Given the description of an element on the screen output the (x, y) to click on. 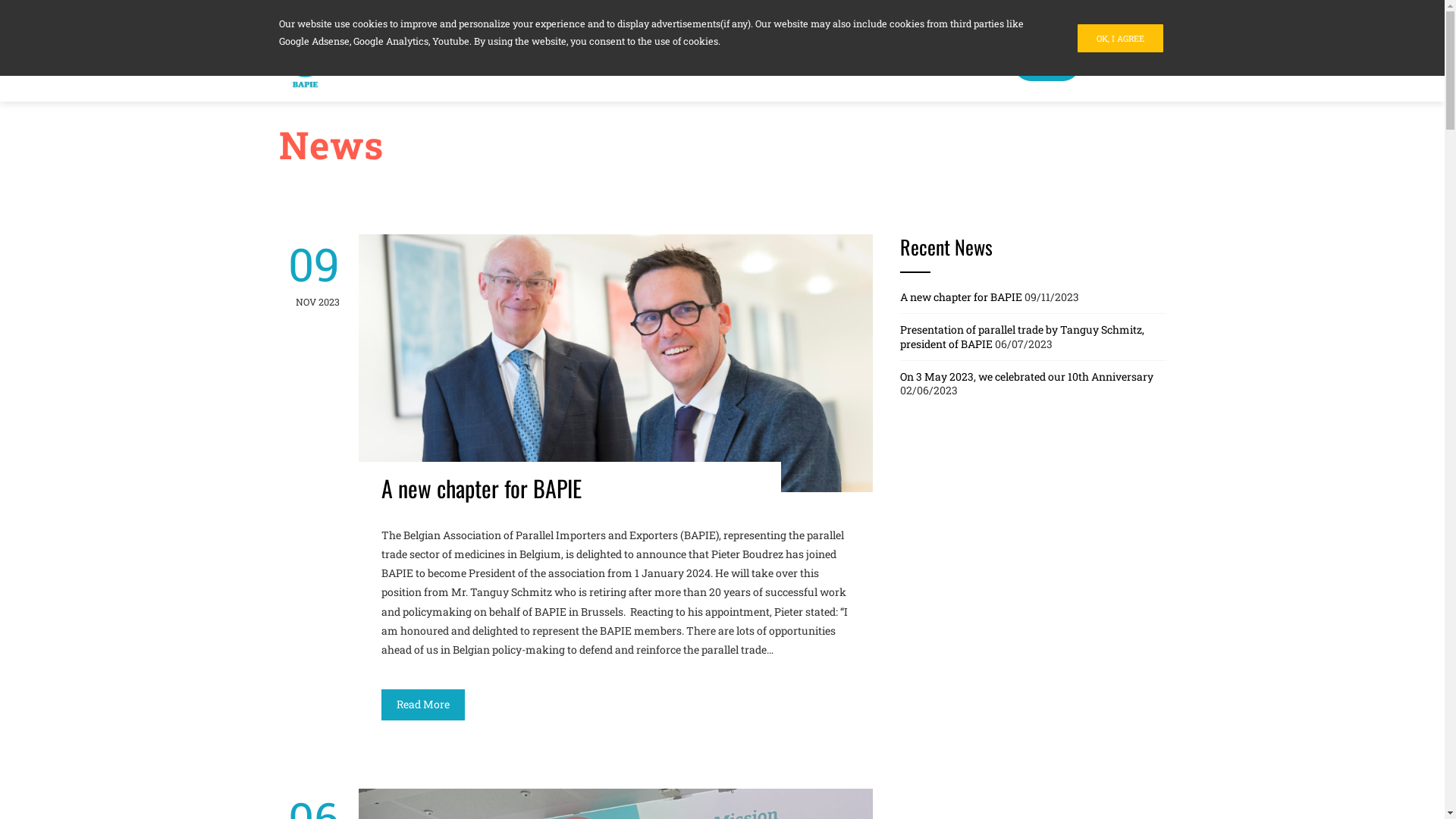
HOME Element type: text (871, 64)
On 3 May 2023, we celebrated our 10th Anniversary Element type: text (1025, 376)
A new chapter for BAPIE Element type: text (960, 296)
A new chapter for BAPIE Element type: text (480, 487)
ABOUT US Element type: text (959, 64)
Read More Element type: text (422, 704)
OK, I AGREE Element type: text (1119, 38)
CONTACT Element type: text (1125, 64)
NEWS Element type: text (1046, 64)
